Given the description of an element on the screen output the (x, y) to click on. 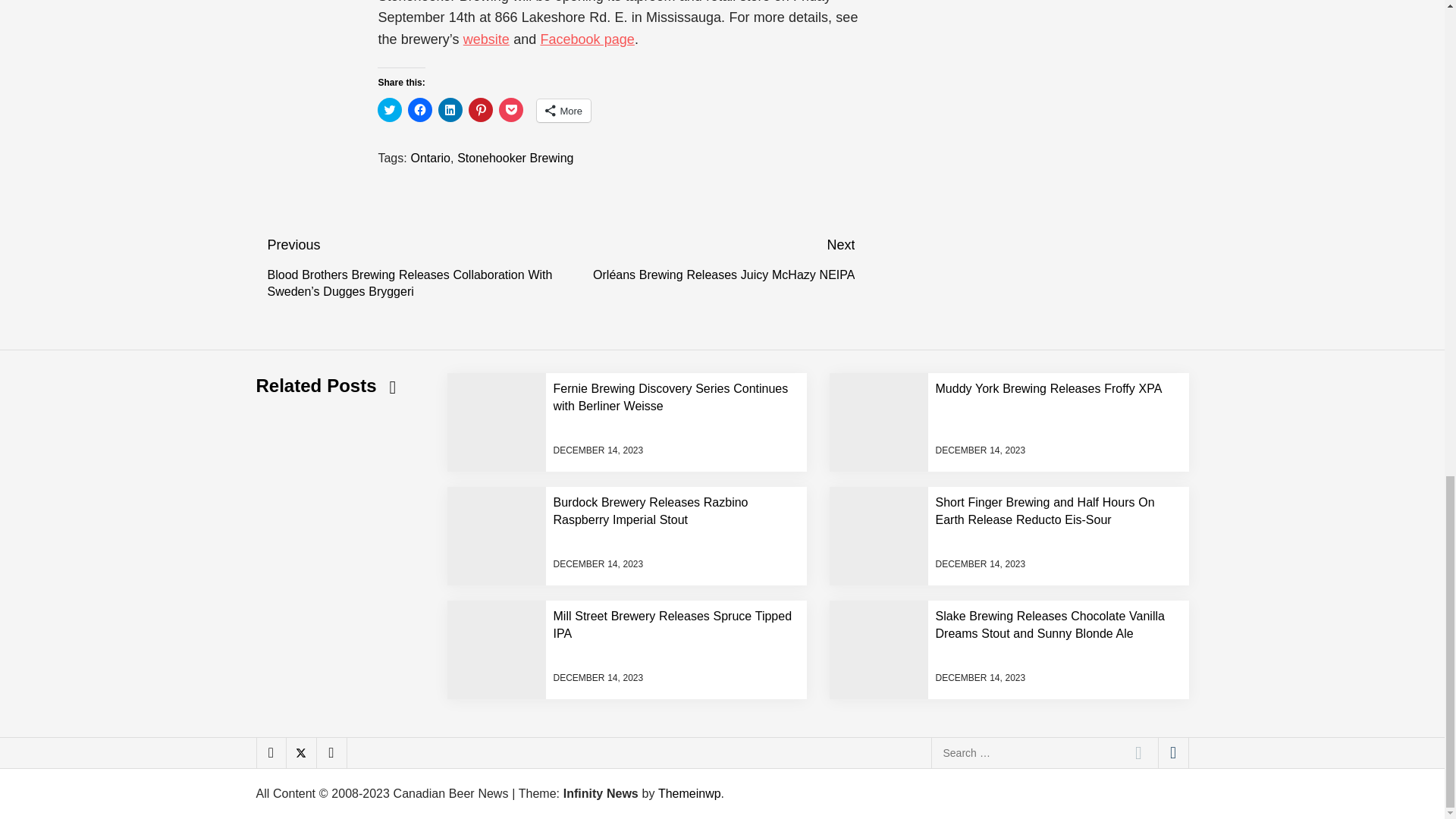
Click to share on Pocket (510, 109)
More (564, 110)
Facebook page (586, 38)
Ontario (429, 157)
Click to share on Pinterest (480, 109)
Click to share on Twitter (389, 109)
Click to share on LinkedIn (450, 109)
Search (1138, 752)
Stonehooker Brewing (515, 157)
website (486, 38)
Search (1138, 752)
Click to share on Facebook (419, 109)
